Given the description of an element on the screen output the (x, y) to click on. 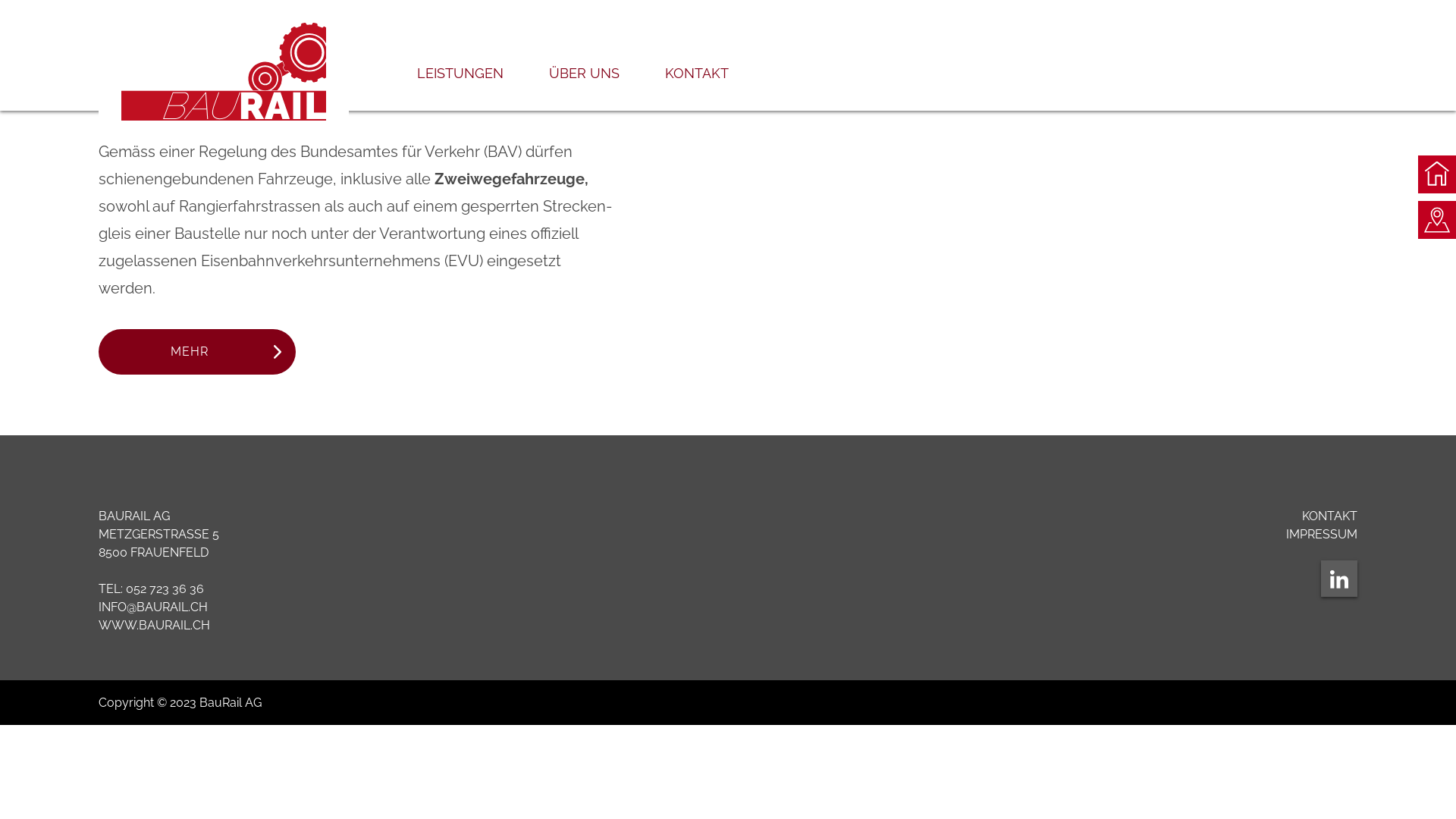
LEISTUNGEN Element type: text (460, 87)
IMPRESSUM Element type: text (1321, 534)
TEL: 052 723 36 36 Element type: text (150, 588)
INFO@BAURAIL.CH Element type: text (152, 606)
BauRail AG auf LinkedIn Element type: hover (1339, 578)
BauRail Element type: hover (223, 71)
MEHR Element type: text (196, 351)
KONTAKT Element type: text (1329, 515)
WWW.BAURAIL.CH Element type: text (154, 625)
KONTAKT Element type: text (696, 87)
